Given the description of an element on the screen output the (x, y) to click on. 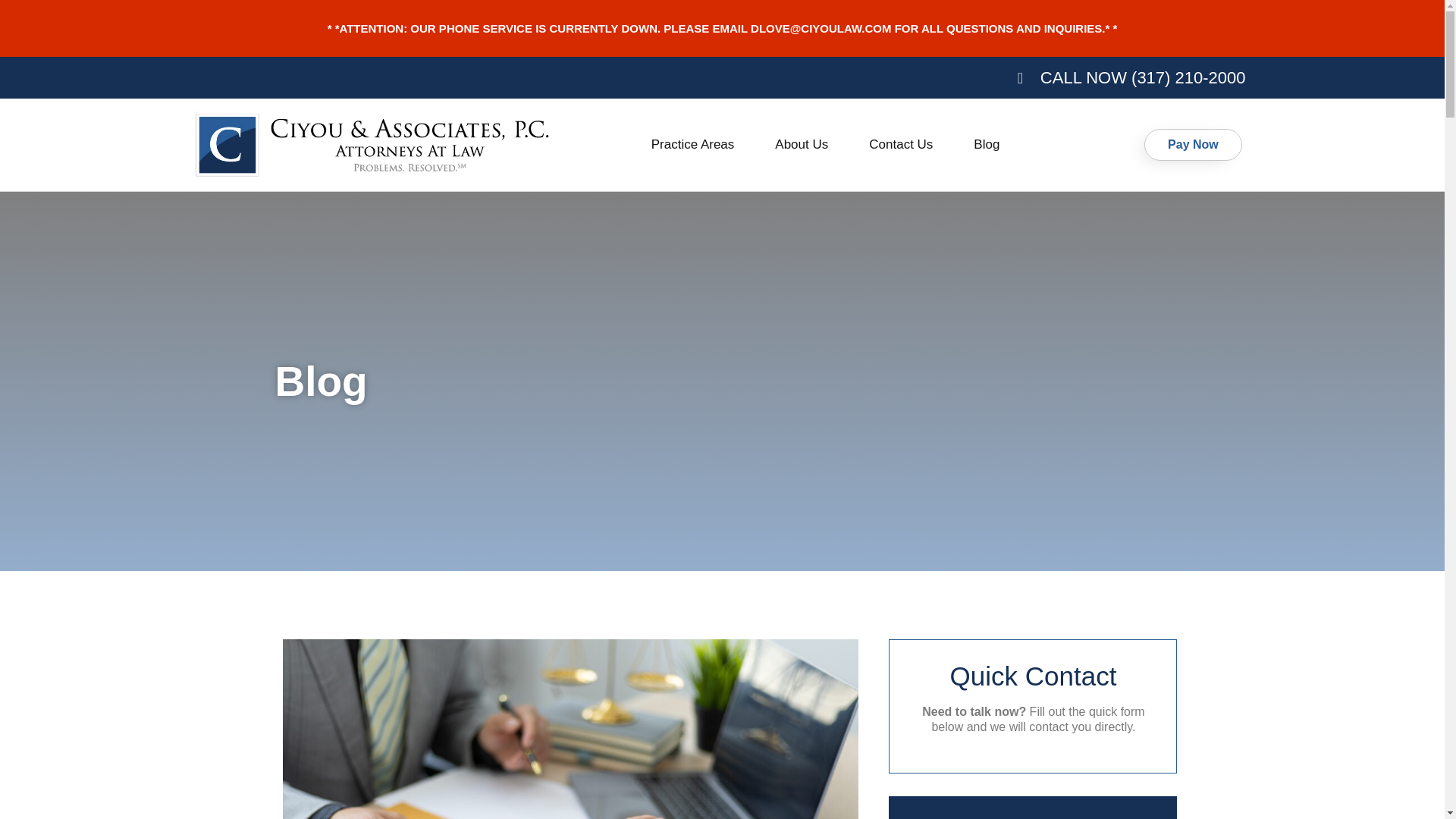
Contact Us (900, 144)
About Us (801, 144)
Practice Areas (692, 144)
Blog (986, 144)
Pay Now (1192, 144)
